Given the description of an element on the screen output the (x, y) to click on. 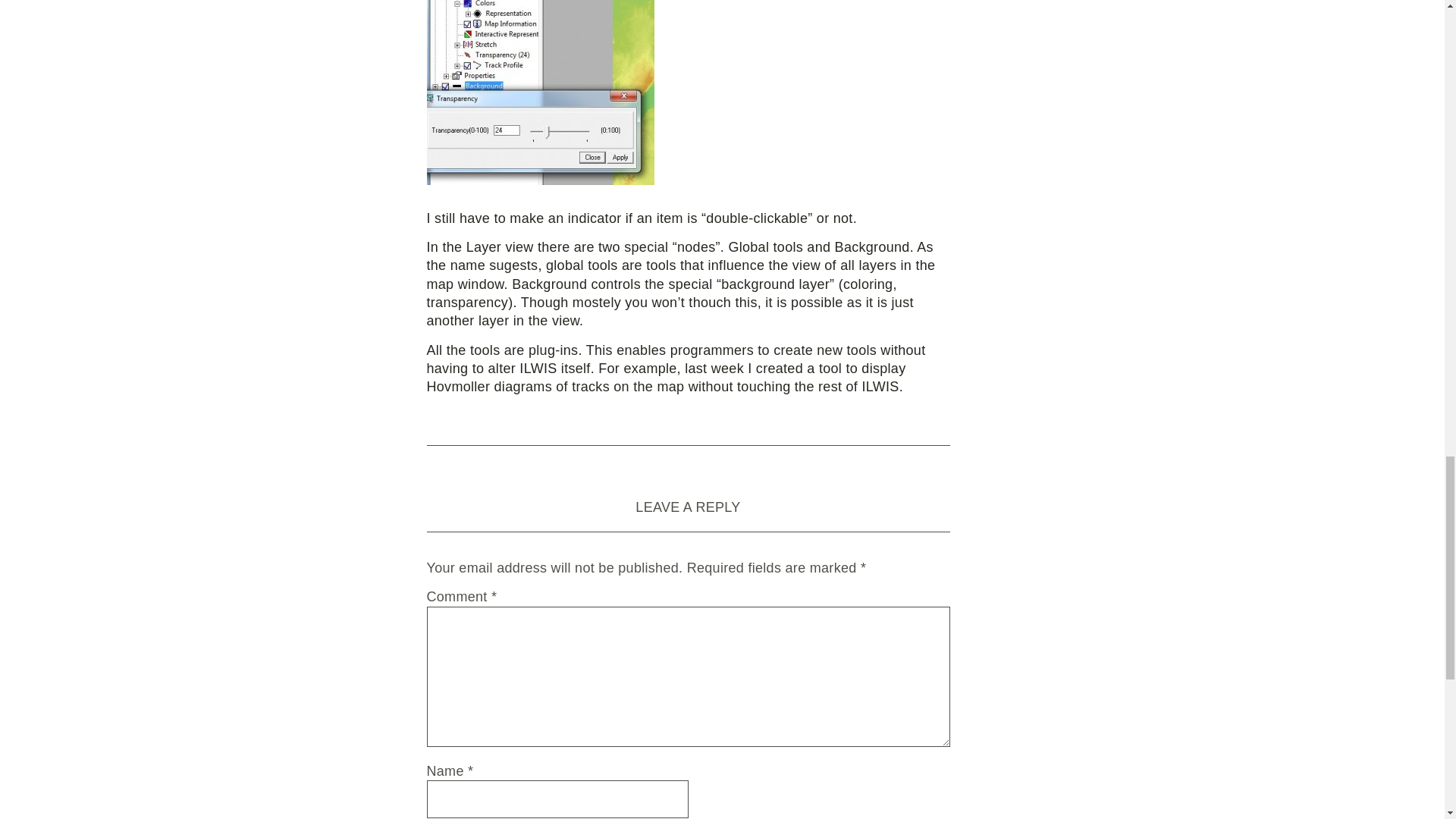
lv3 (539, 92)
